Given the description of an element on the screen output the (x, y) to click on. 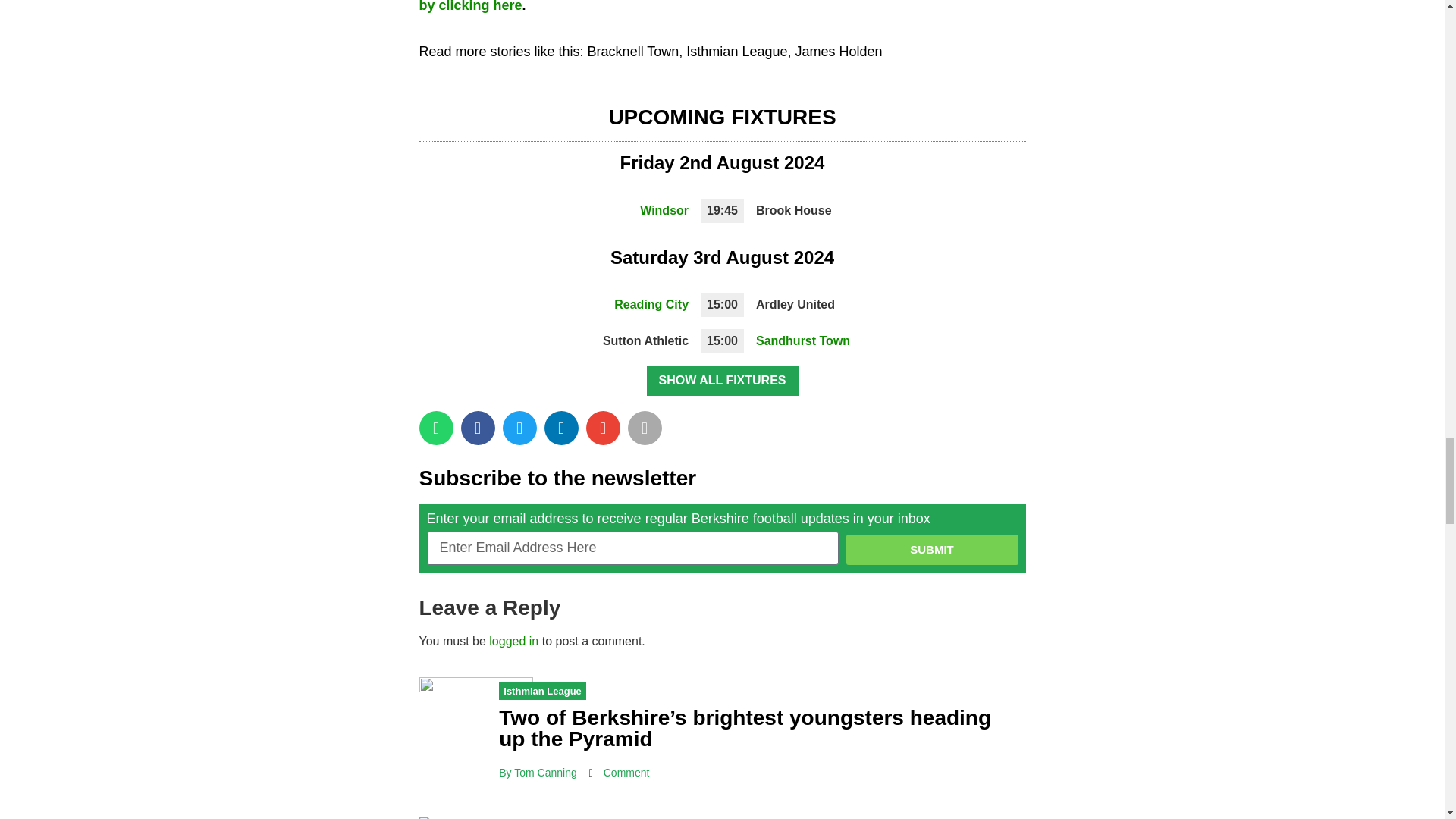
Friday 2nd August 2024 (722, 162)
Isthmian League (736, 51)
Reading City (651, 304)
join Breaking Berkshire Football News by clicking here (714, 6)
Saturday 3rd August 2024 (722, 257)
Bracknell Town (633, 51)
Berkshire football fixtures on Saturday 3rd August 2024 (722, 257)
Sandhurst Town (802, 340)
Windsor (664, 210)
James Holden (838, 51)
Berkshire football fixtures on Friday 2nd August 2024 (722, 162)
